Given the description of an element on the screen output the (x, y) to click on. 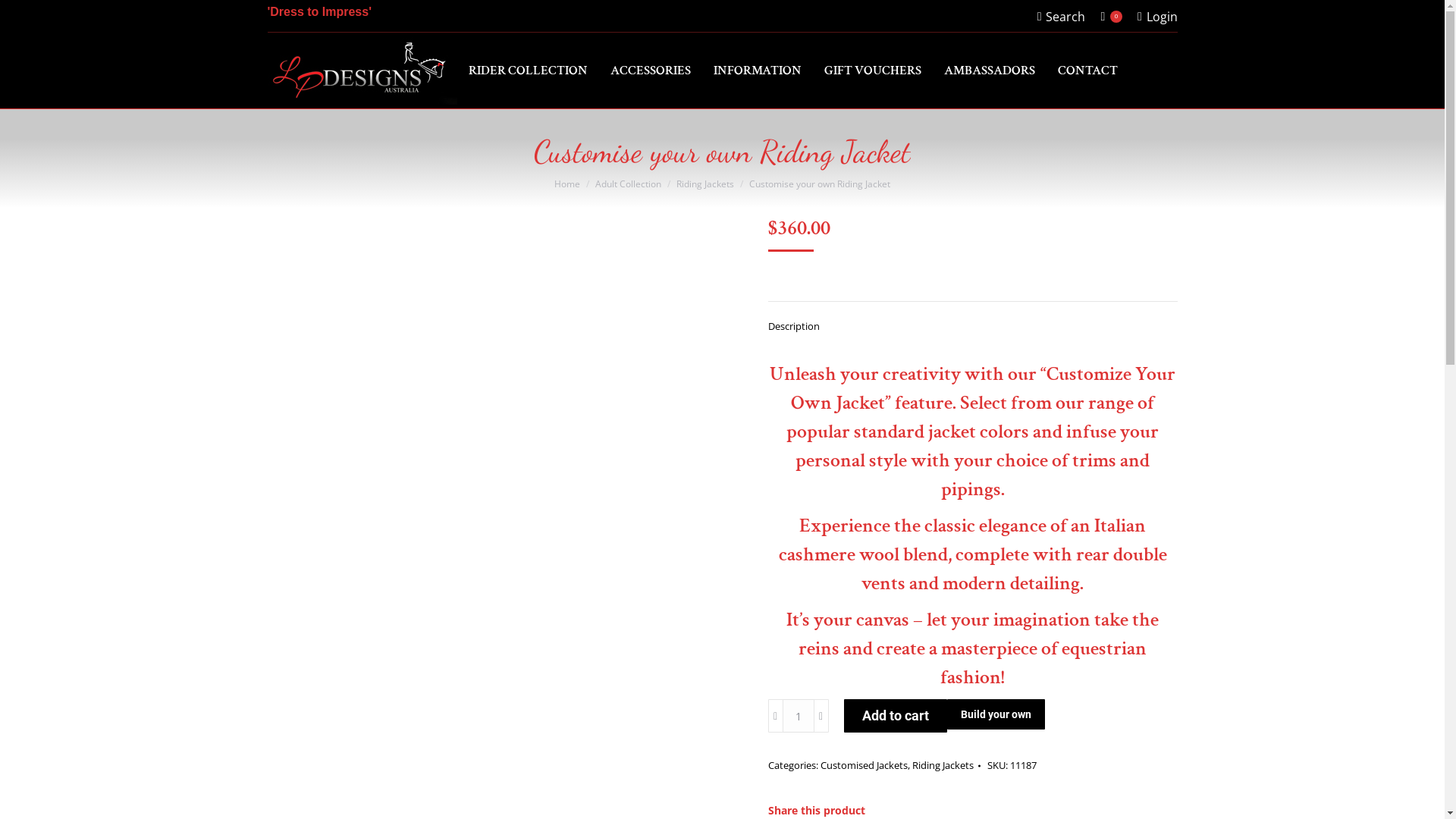
ACCESSORIES Element type: text (649, 70)
RIDER COLLECTION Element type: text (528, 70)
CONTACT Element type: text (1086, 70)
Add to cart Element type: text (894, 715)
Go! Element type: text (23, 16)
 0 Element type: text (1111, 15)
Build your own Element type: text (995, 714)
Home Element type: text (567, 183)
Adult Collection Element type: text (628, 183)
Description Element type: text (793, 325)
GIFT VOUCHERS Element type: text (871, 70)
INFORMATION Element type: text (756, 70)
Riding Jackets Element type: text (941, 764)
Login Element type: text (1157, 15)
Customised Jackets Element type: text (863, 764)
Riding Jackets Element type: text (705, 183)
Search Element type: text (1061, 15)
AMBASSADORS Element type: text (988, 70)
